Given the description of an element on the screen output the (x, y) to click on. 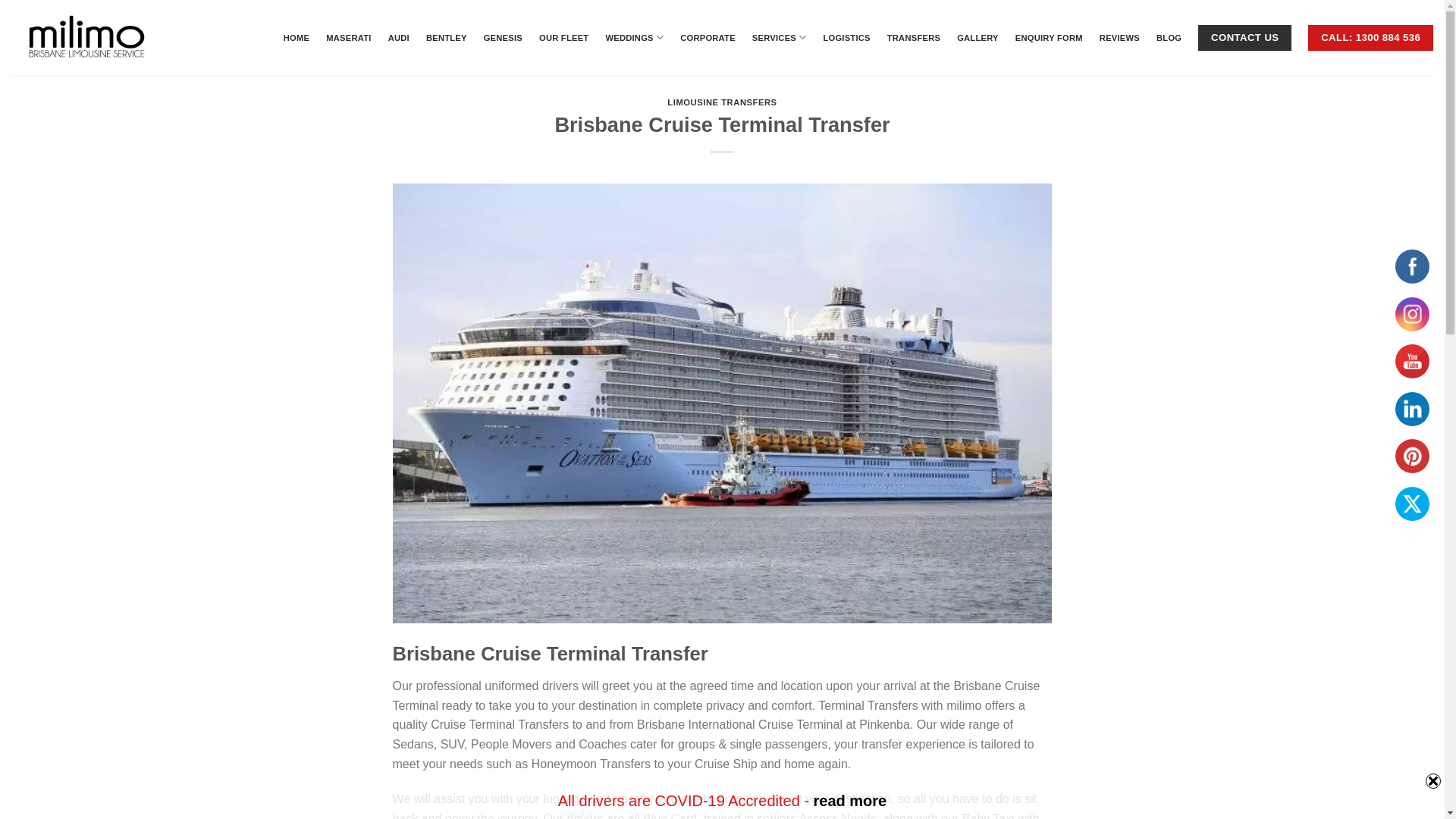
ENQUIRY FORM Element type: text (1048, 37)
milimo - Brisbane Limousine Service Element type: hover (90, 37)
OUR FLEET Element type: text (563, 37)
SERVICES Element type: text (779, 37)
WEDDINGS Element type: text (634, 37)
BENTLEY Element type: text (446, 37)
TRANSFERS Element type: text (913, 37)
MASERATI Element type: text (348, 37)
BLOG Element type: text (1168, 37)
REVIEWS Element type: text (1119, 37)
GENESIS Element type: text (502, 37)
AUDI Element type: text (398, 37)
INSTAGRAM Element type: hover (1411, 313)
FACEBOOK Element type: hover (1411, 266)
LOGISTICS Element type: text (845, 37)
LIMOUSINE TRANSFERS Element type: text (721, 101)
HOME Element type: text (296, 37)
CALL: 1300 884 536 Element type: text (1370, 37)
PINTEREST Element type: hover (1411, 456)
LINKEDIN Element type: hover (1411, 408)
Skip to content Element type: text (0, 0)
TWITTER Element type: hover (1411, 503)
GALLERY Element type: text (977, 37)
YOUTUBE Element type: hover (1411, 360)
CONTACT US Element type: text (1244, 37)
read more Element type: text (850, 800)
CORPORATE Element type: text (707, 37)
